Given the description of an element on the screen output the (x, y) to click on. 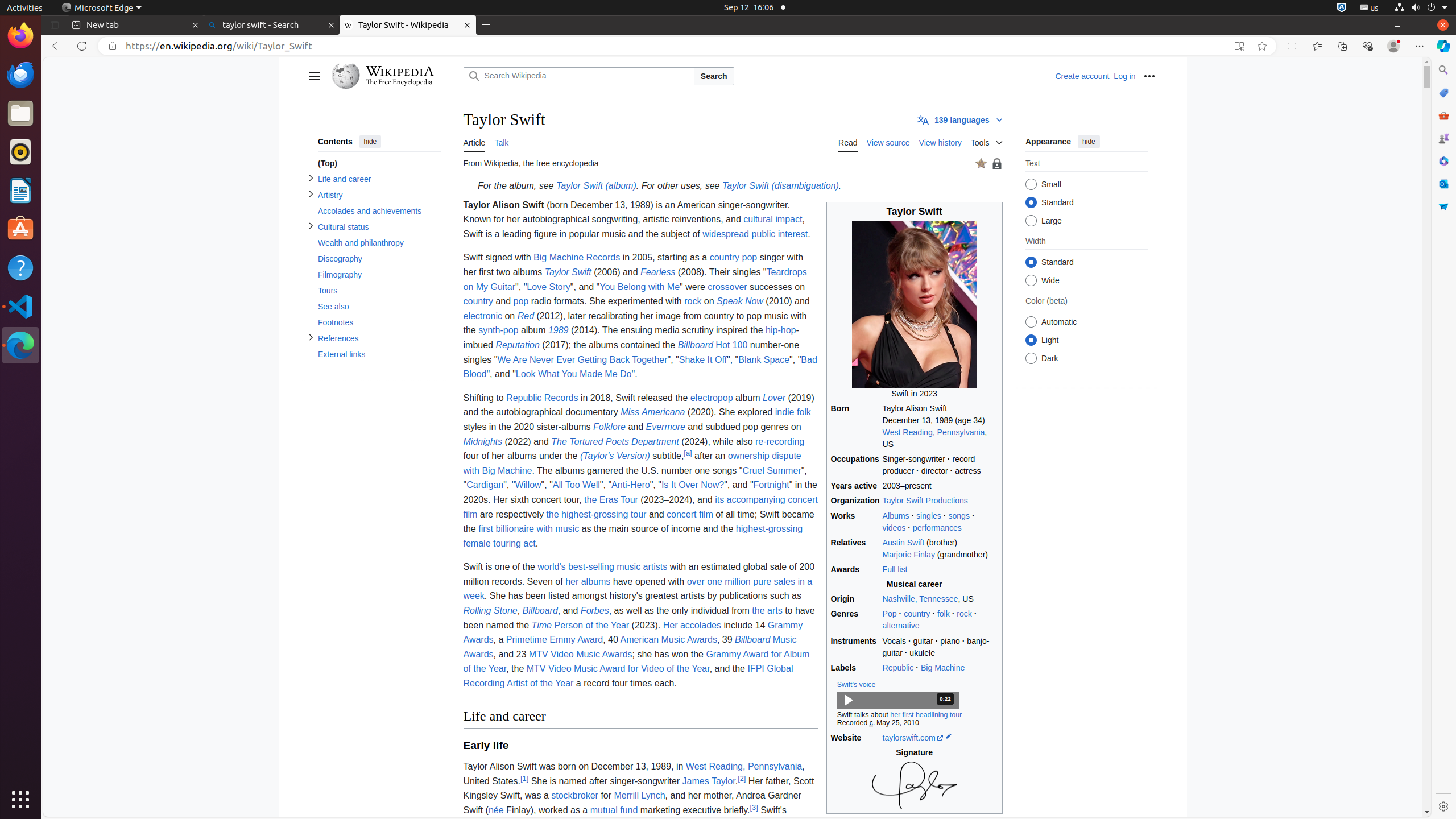
hip-hop Element type: link (780, 330)
Standard Element type: radio-button (1030, 262)
Close tab Element type: push-button (195, 25)
Republic Records Element type: link (542, 397)
Dark Element type: radio-button (1030, 358)
